Given the description of an element on the screen output the (x, y) to click on. 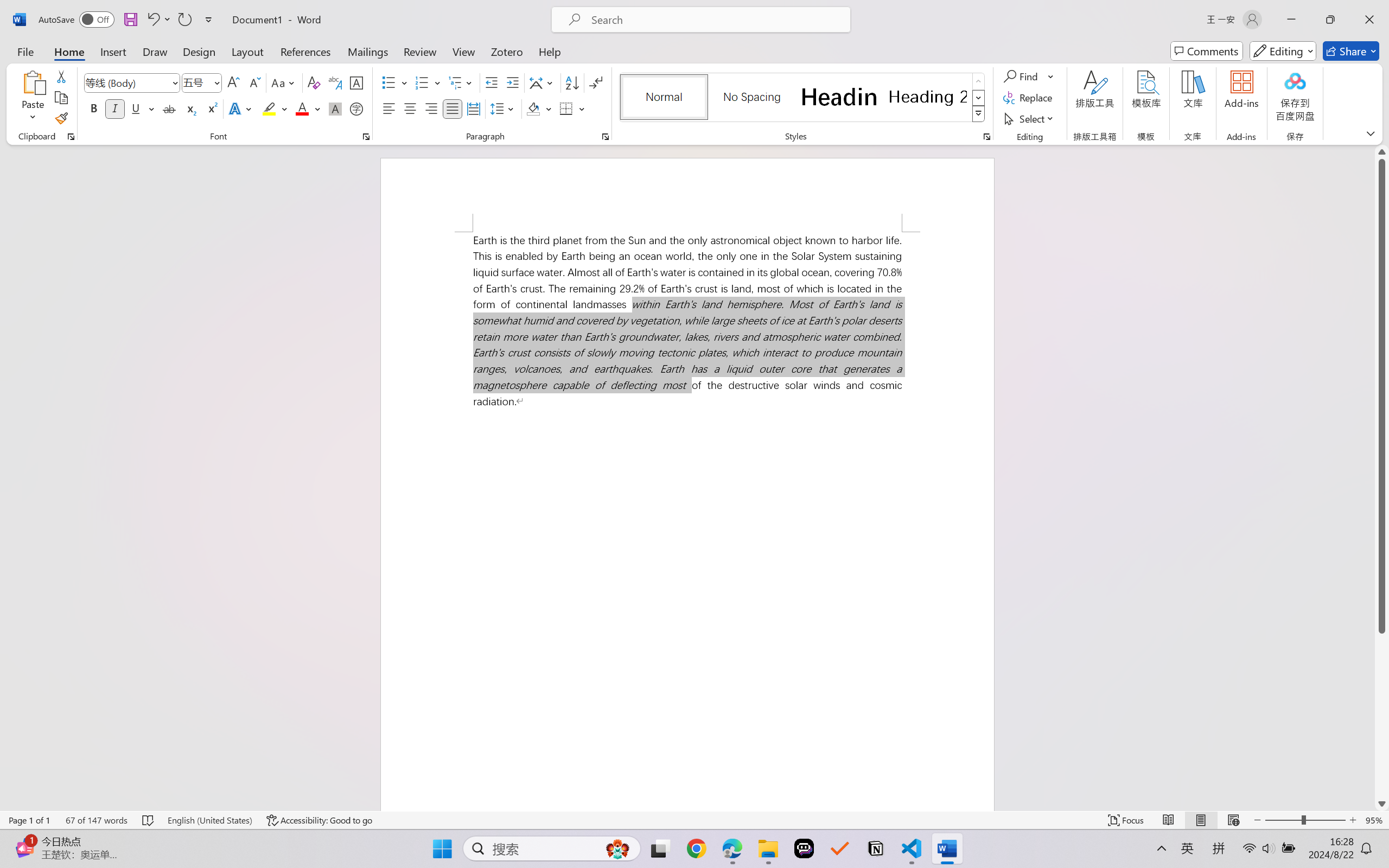
Open (215, 82)
Center (409, 108)
Subscript (190, 108)
Line up (1382, 151)
Select (1030, 118)
Row up (978, 81)
Strikethrough (169, 108)
